Given the description of an element on the screen output the (x, y) to click on. 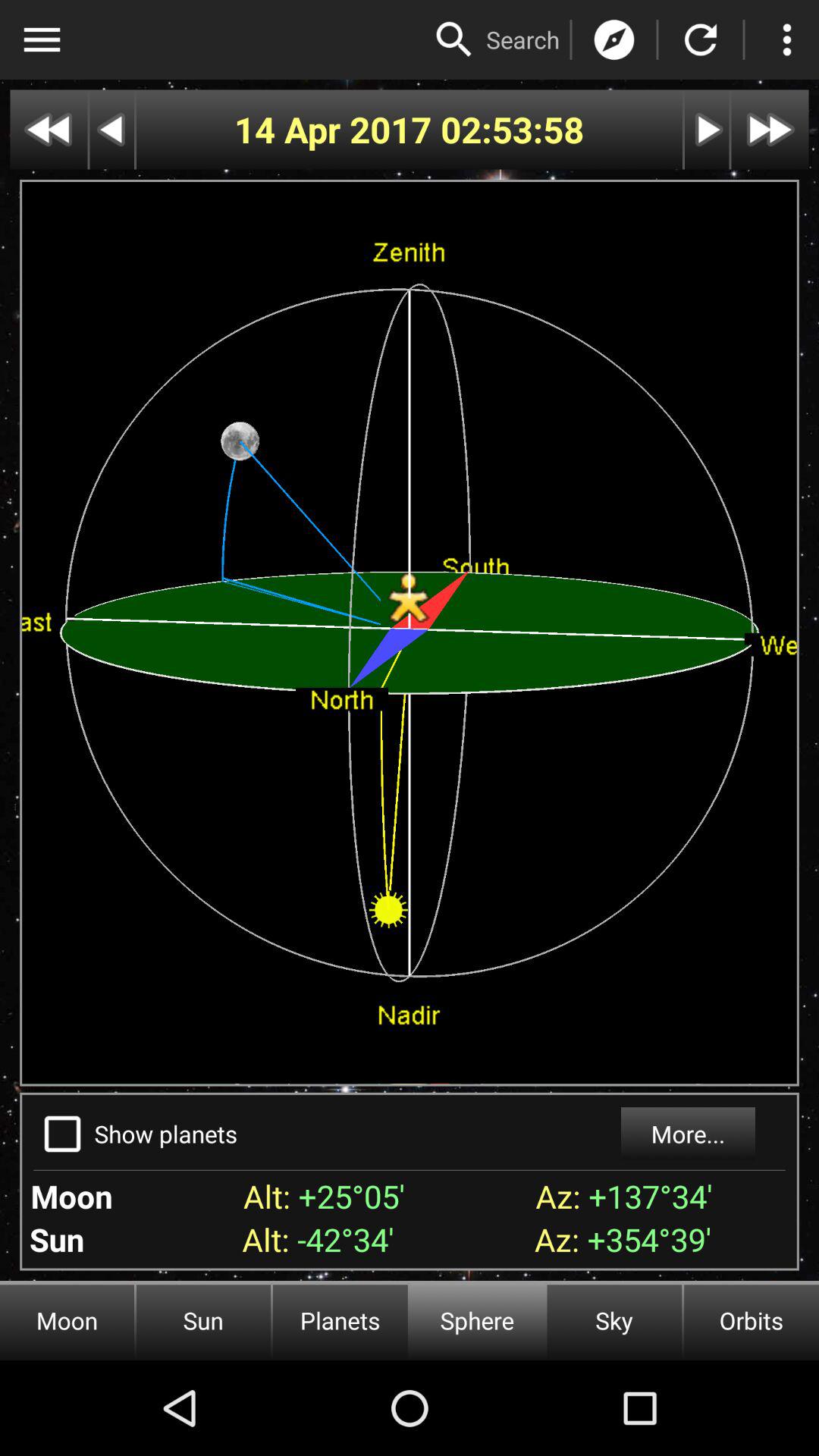
go back (111, 129)
